Given the description of an element on the screen output the (x, y) to click on. 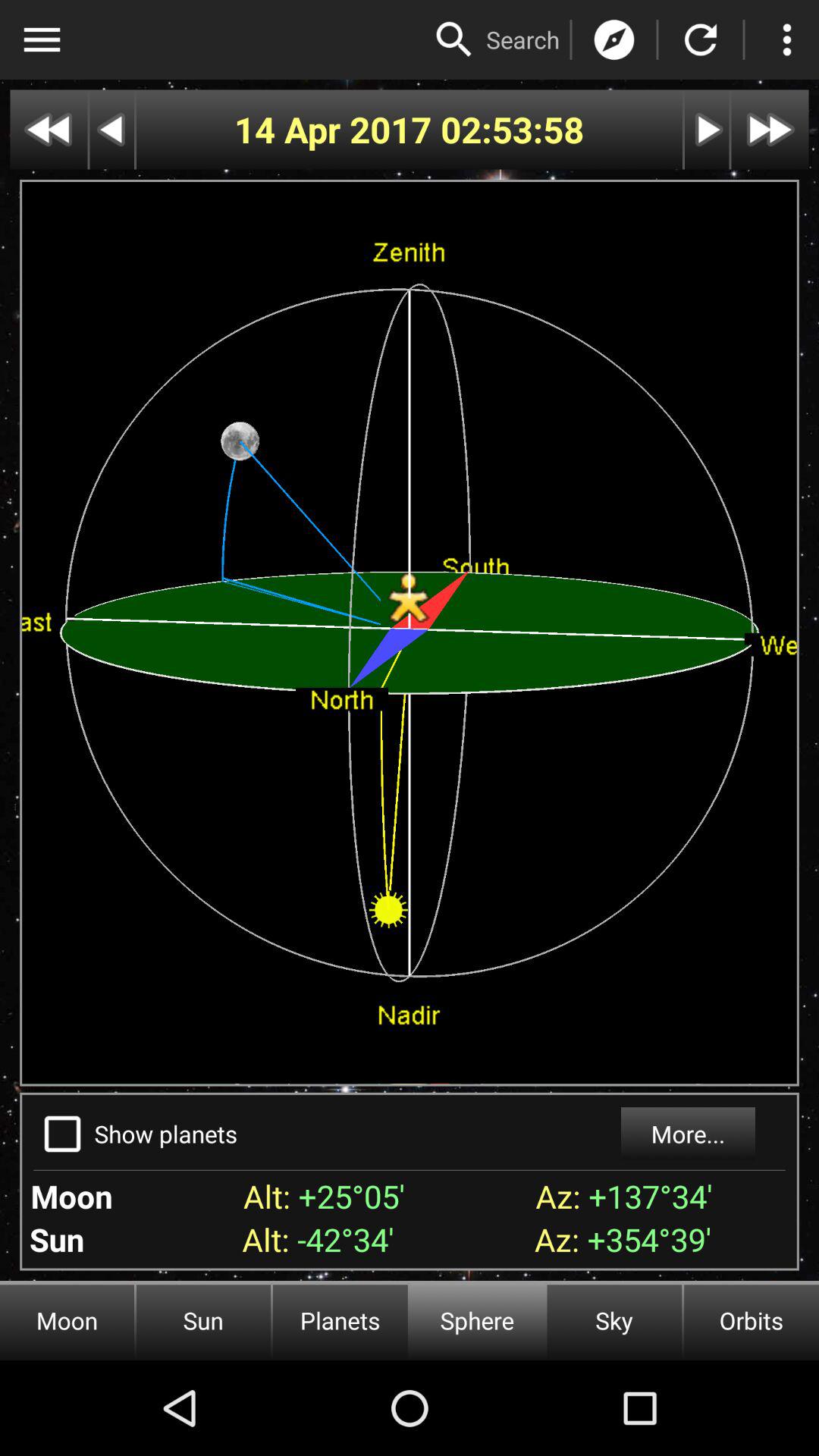
go back (111, 129)
